Given the description of an element on the screen output the (x, y) to click on. 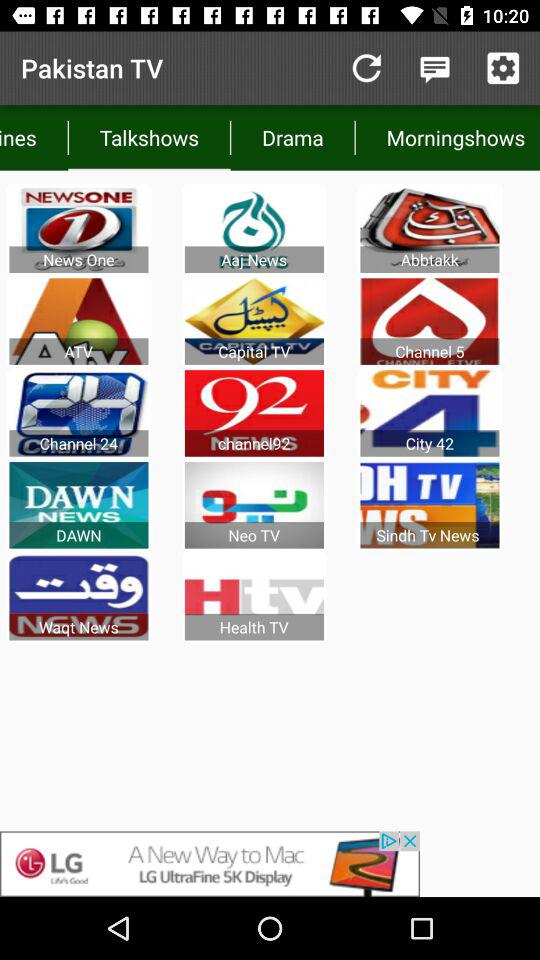
lg icon (270, 864)
